Given the description of an element on the screen output the (x, y) to click on. 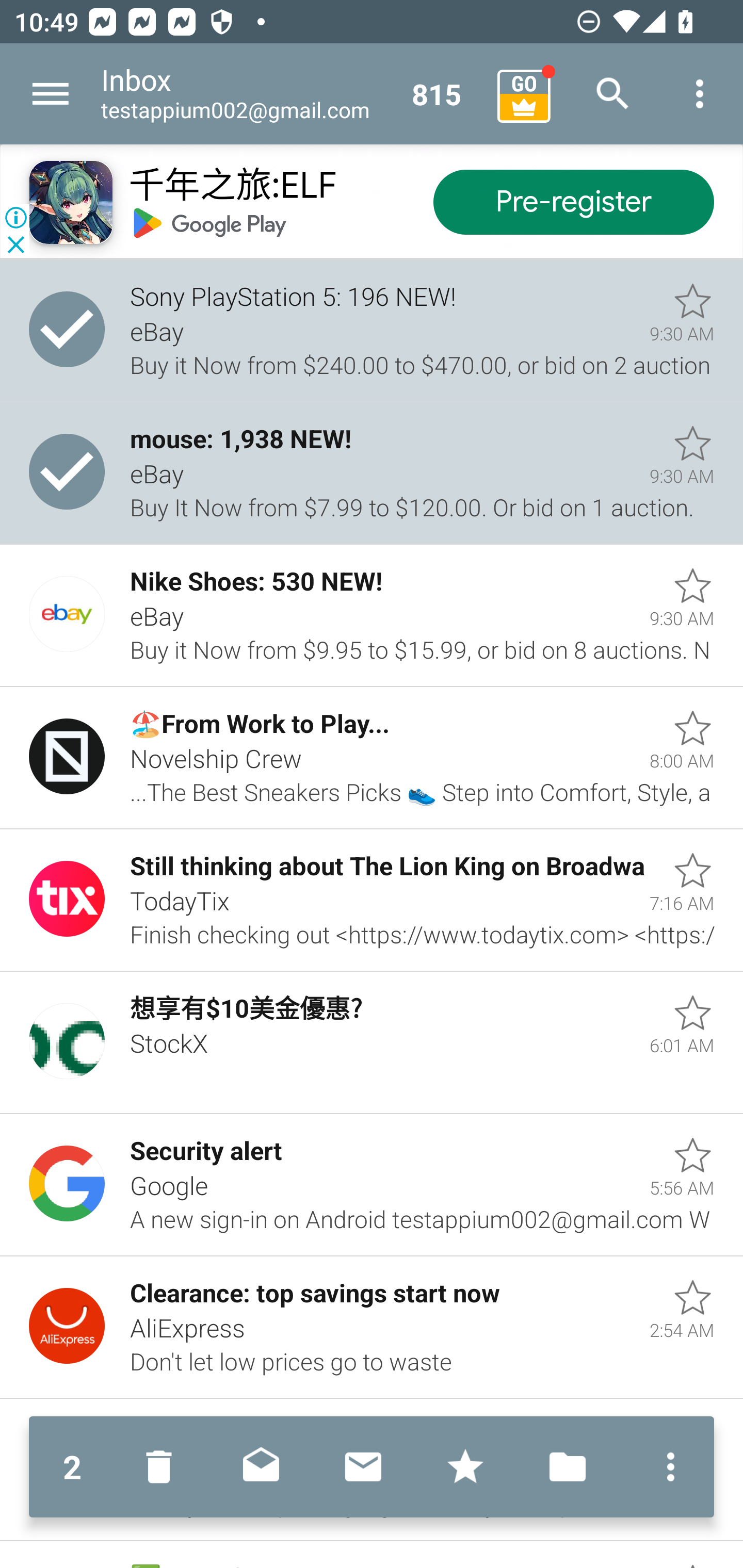
Navigate up (50, 93)
Inbox testappium002@gmail.com 815 (291, 93)
Search (612, 93)
More options (699, 93)
千年之旅:ELF (232, 186)
Pre-register (573, 202)
Unread, 想享有$10美金優惠?, StockX, 6:01 AM (371, 1043)
2 2 messages (71, 1466)
Move to Deleted (162, 1466)
Mark read (261, 1466)
Mark unread (363, 1466)
Mark with stars (465, 1466)
Move to folder… (567, 1466)
More options (666, 1466)
